Given the description of an element on the screen output the (x, y) to click on. 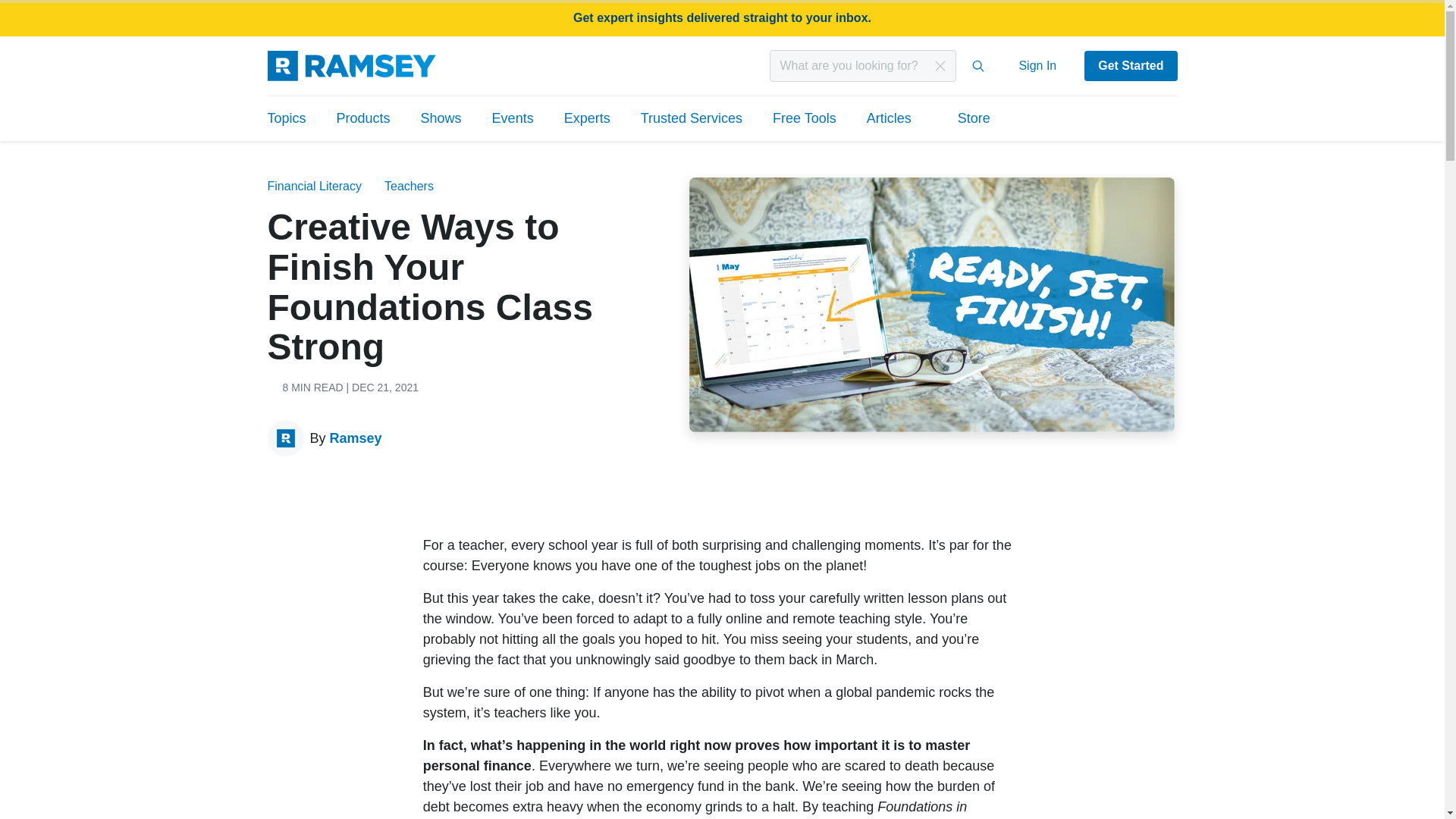
Sign In (1037, 65)
Topics (293, 118)
Get expert insights delivered straight to your inbox. (721, 17)
Get Started (1130, 65)
Products (363, 118)
Search (978, 65)
